Given the description of an element on the screen output the (x, y) to click on. 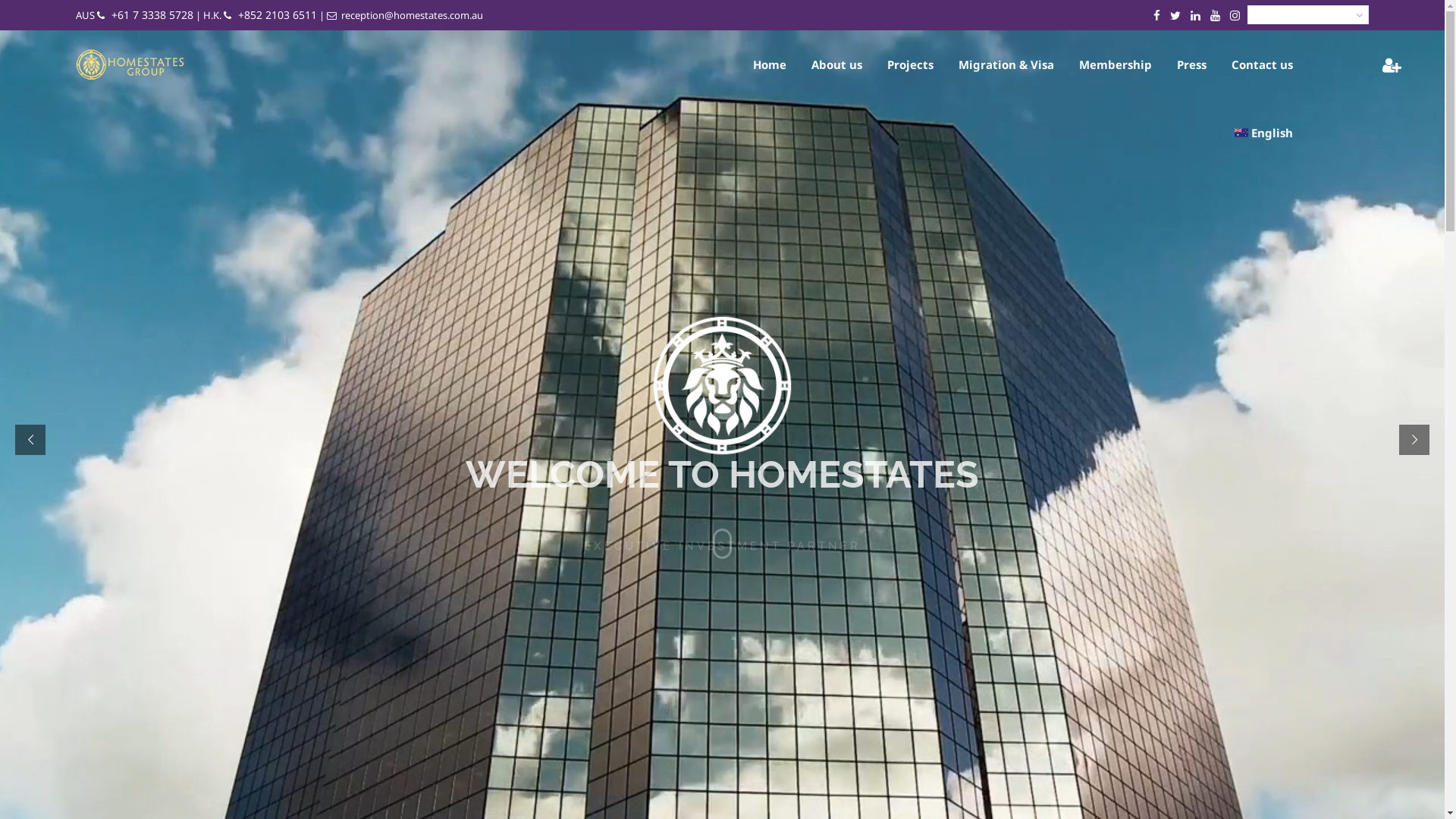
Projects Element type: text (909, 64)
Home Element type: text (769, 64)
English Element type: text (1263, 132)
Migration & Visa Element type: text (1006, 64)
Press Element type: text (1191, 64)
About us Element type: text (836, 64)
Contact us Element type: text (1262, 64)
Membership Element type: text (1115, 64)
